Given the description of an element on the screen output the (x, y) to click on. 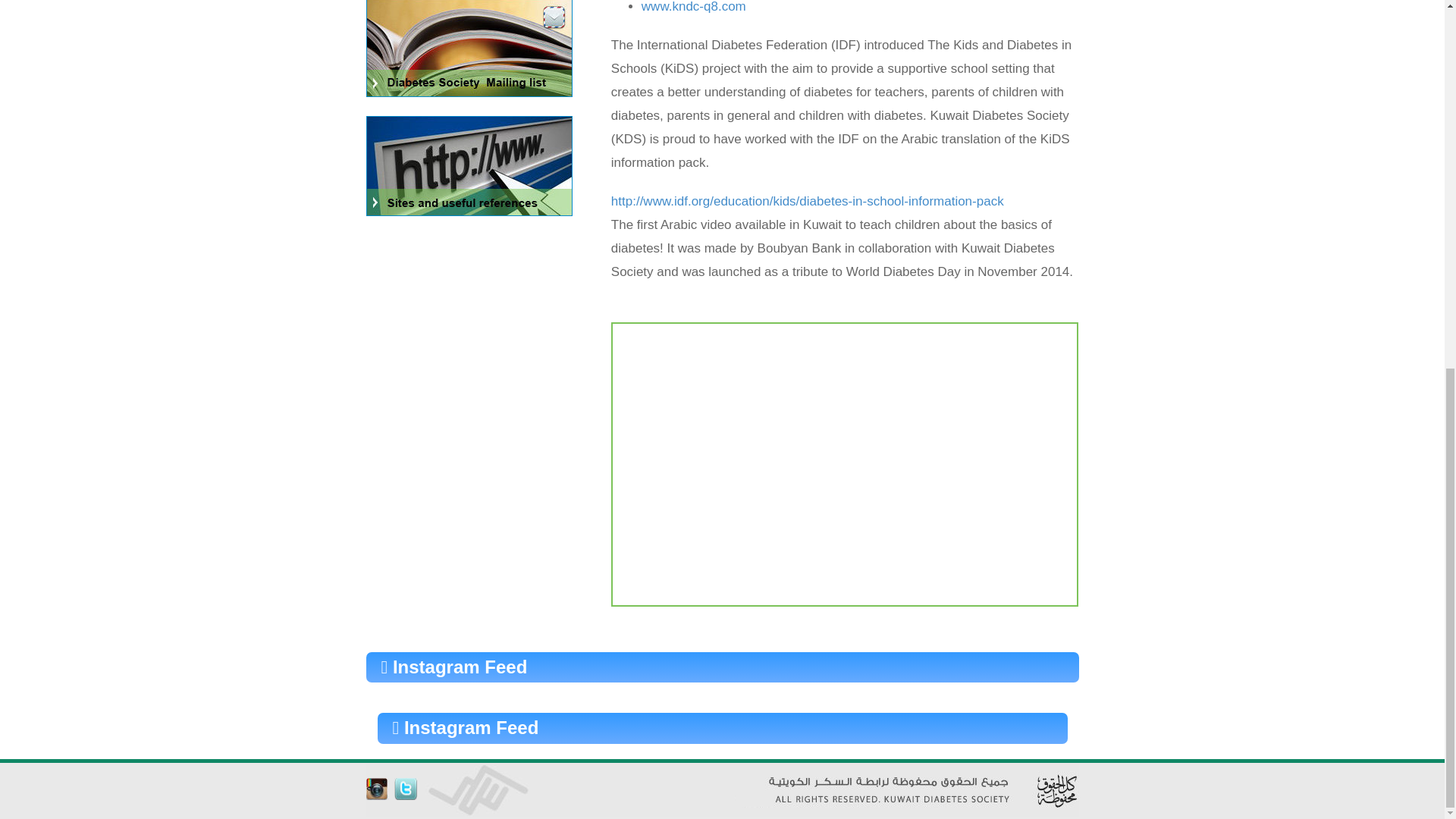
Twitter (405, 789)
Instagram (376, 789)
www.kndc-q8.com (693, 6)
